Given the description of an element on the screen output the (x, y) to click on. 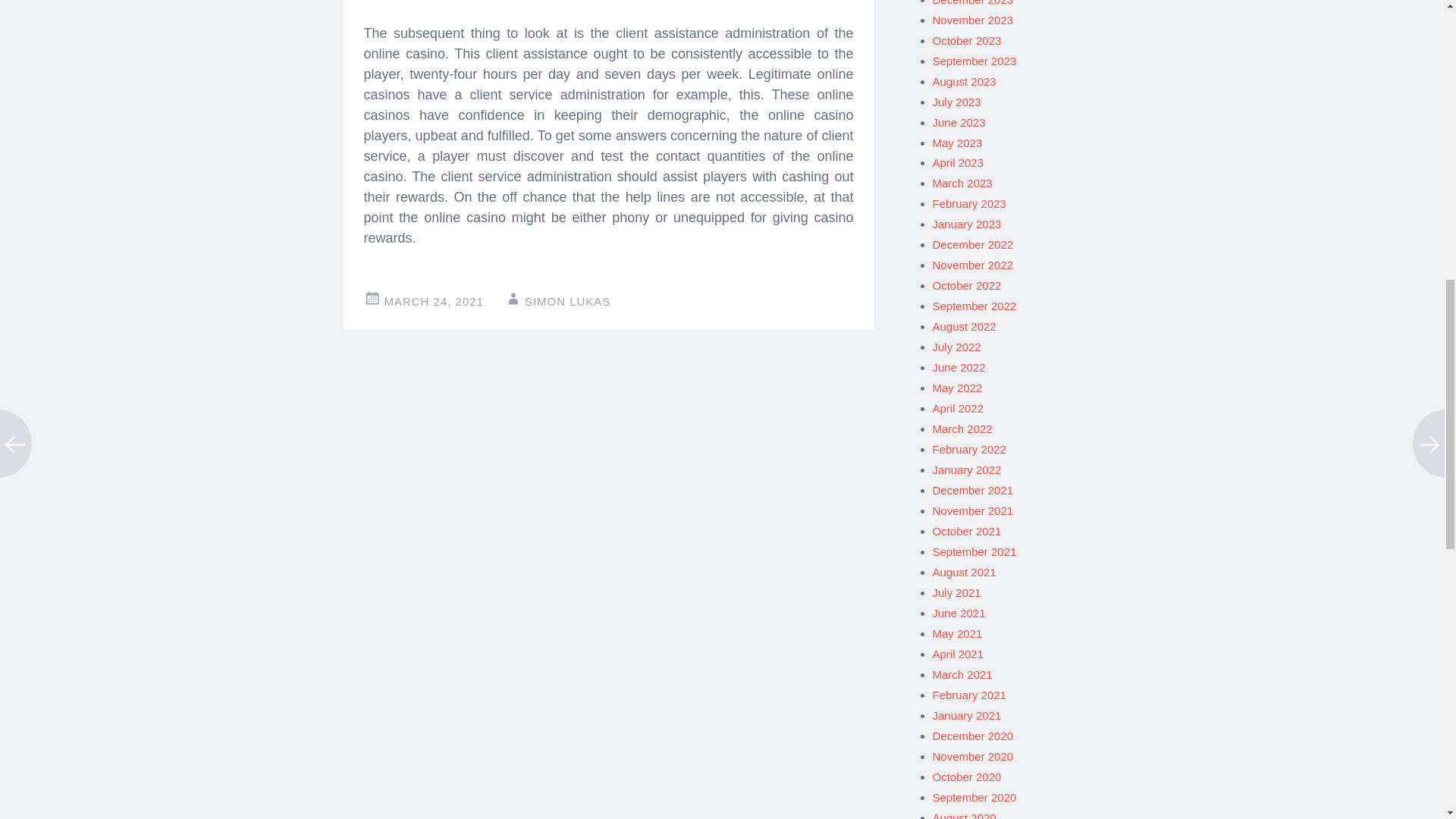
August 2023 (964, 81)
November 2023 (973, 19)
SIMON LUKAS (567, 300)
December 2022 (973, 244)
July 2023 (957, 101)
December 2023 (973, 2)
February 2023 (969, 203)
April 2023 (958, 162)
View all posts by Simon Lukas (567, 300)
June 2023 (959, 122)
November 2022 (973, 264)
9:06 am (433, 300)
MARCH 24, 2021 (433, 300)
January 2023 (967, 223)
March 2023 (962, 182)
